Given the description of an element on the screen output the (x, y) to click on. 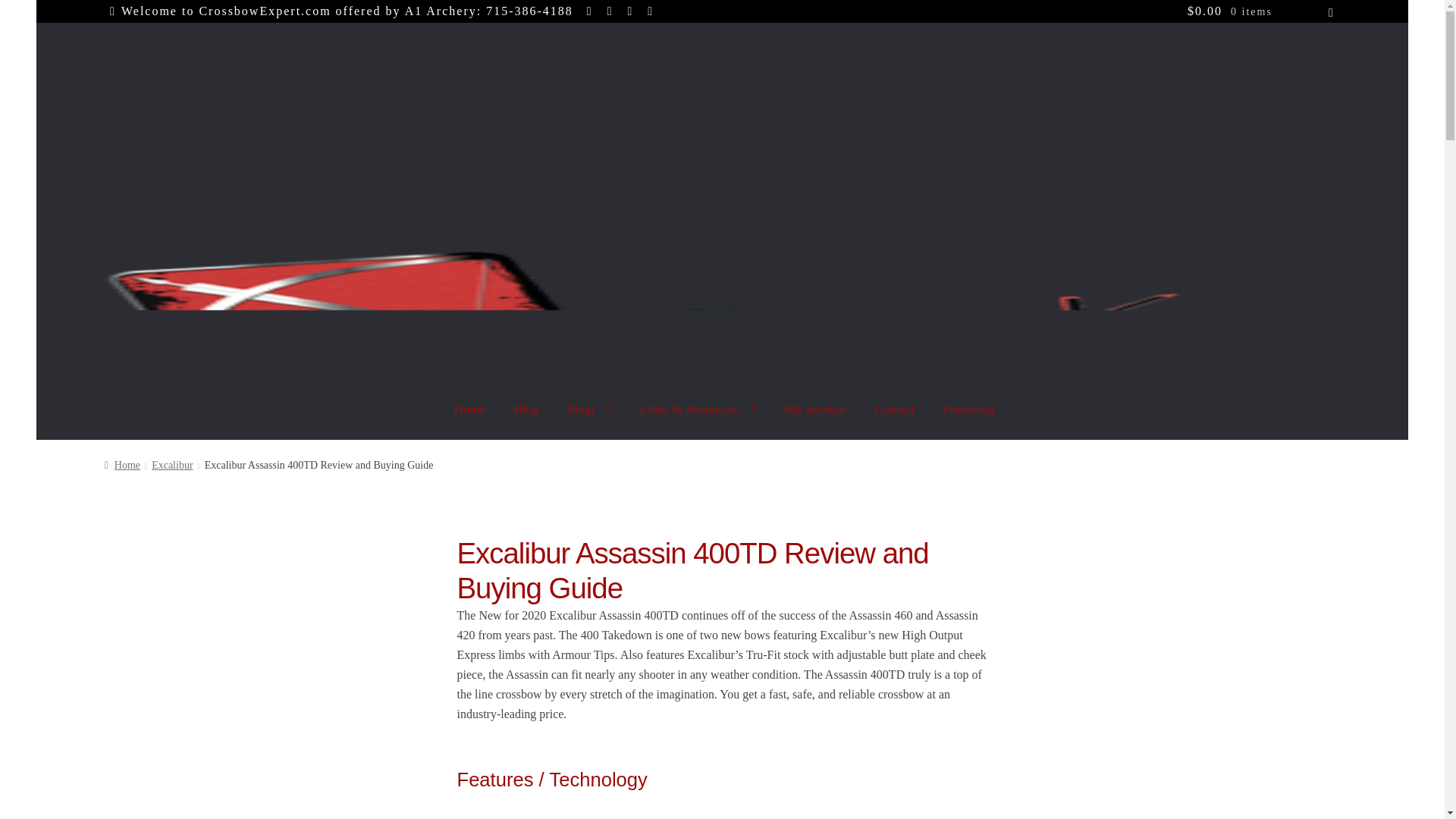
View your shopping cart (1260, 11)
Home (470, 408)
Shop (589, 408)
